Given the description of an element on the screen output the (x, y) to click on. 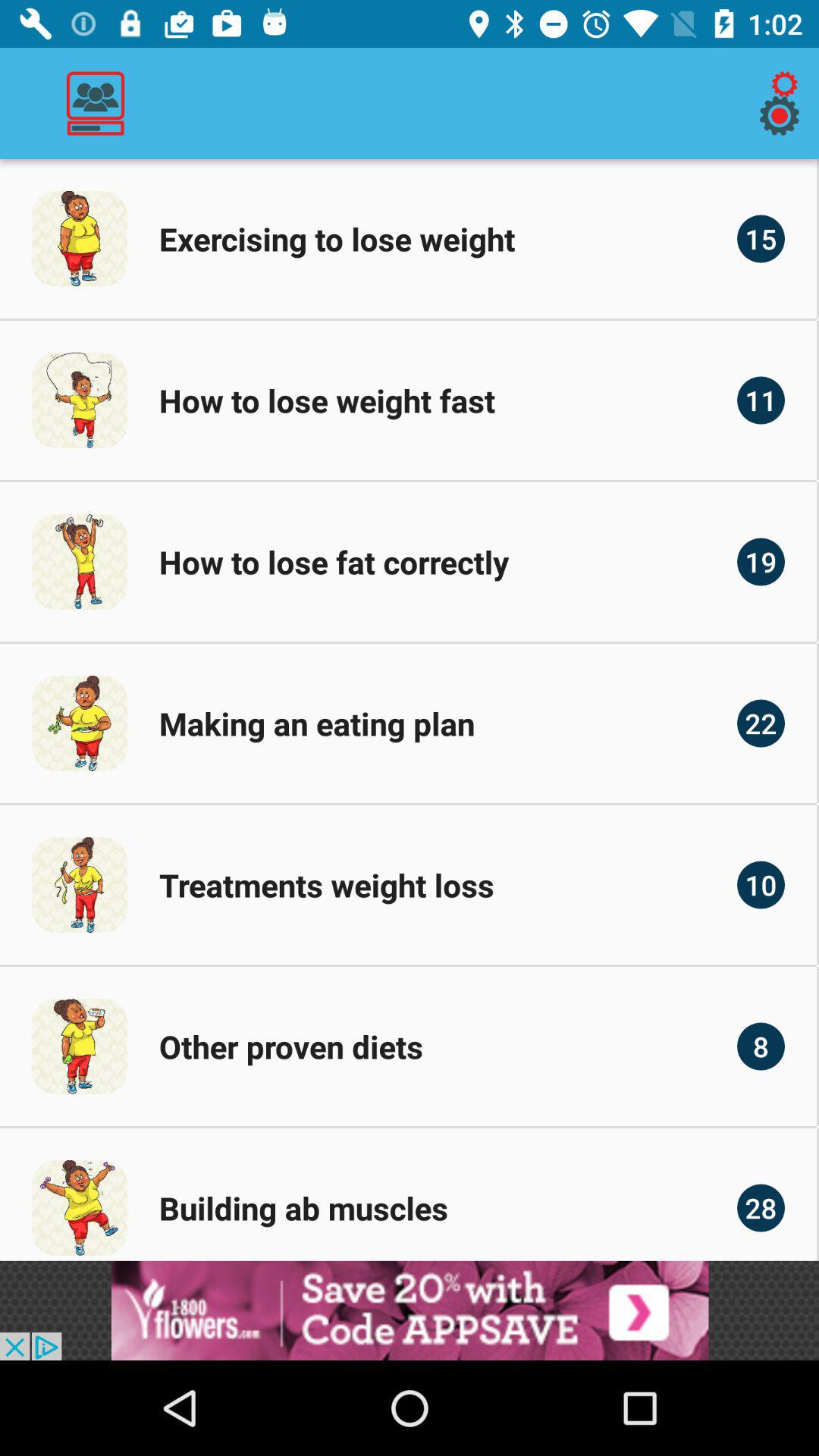
advertisement (409, 1310)
